Given the description of an element on the screen output the (x, y) to click on. 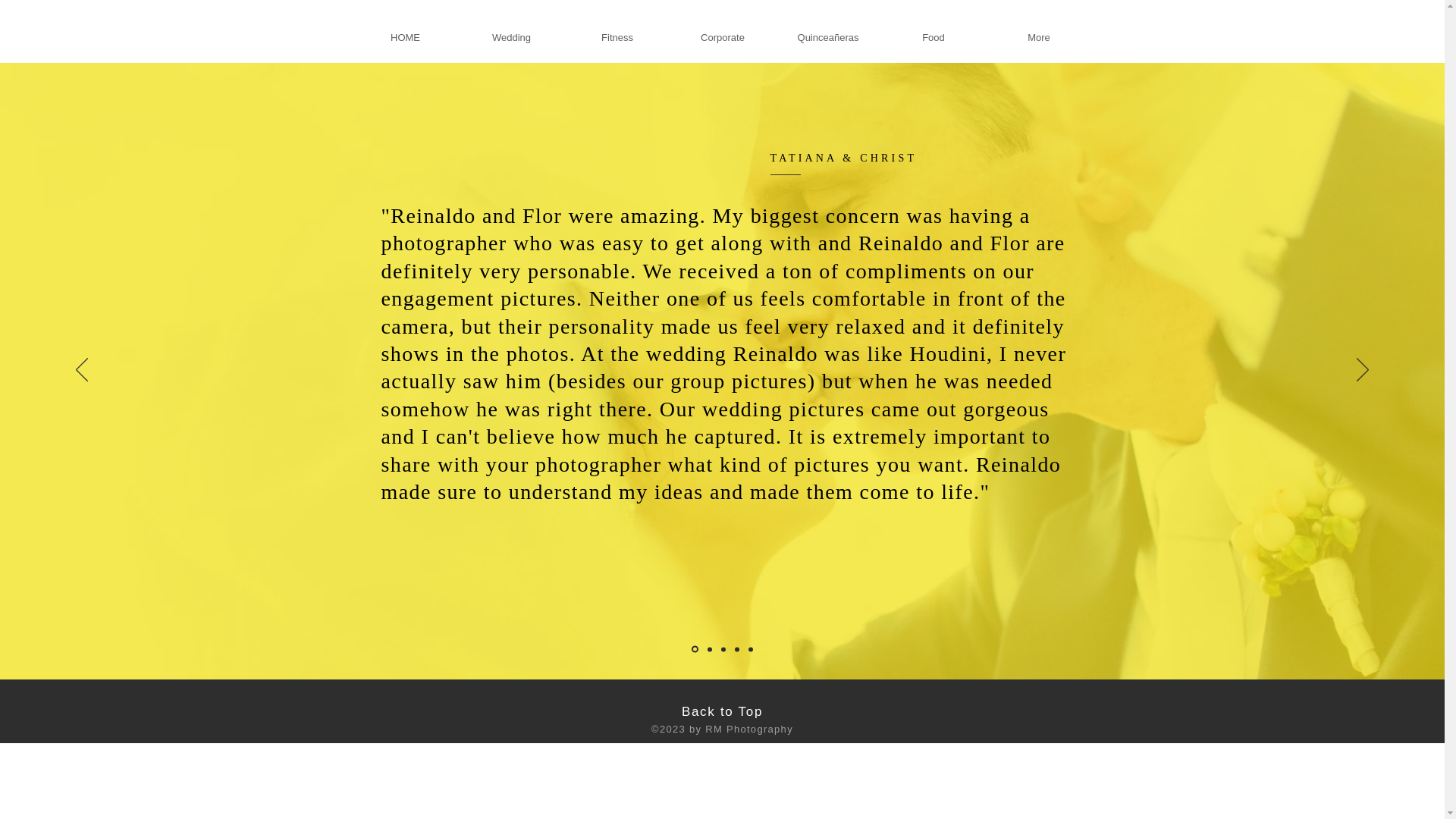
Fitness (616, 30)
Back to Top (721, 711)
Corporate (722, 30)
Wedding (511, 30)
Food (933, 30)
HOME (405, 30)
